Given the description of an element on the screen output the (x, y) to click on. 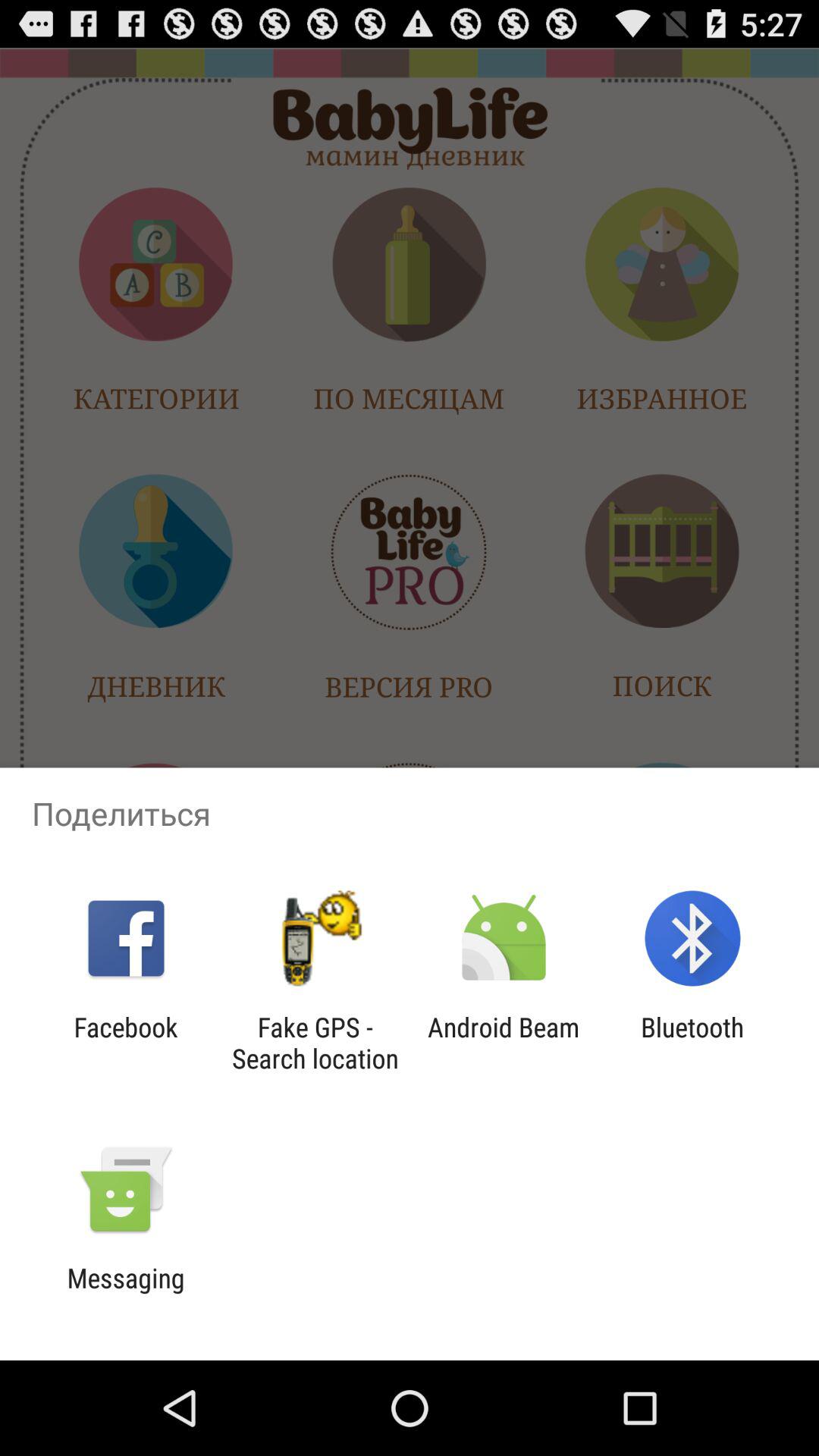
turn on the item next to the android beam (691, 1042)
